Given the description of an element on the screen output the (x, y) to click on. 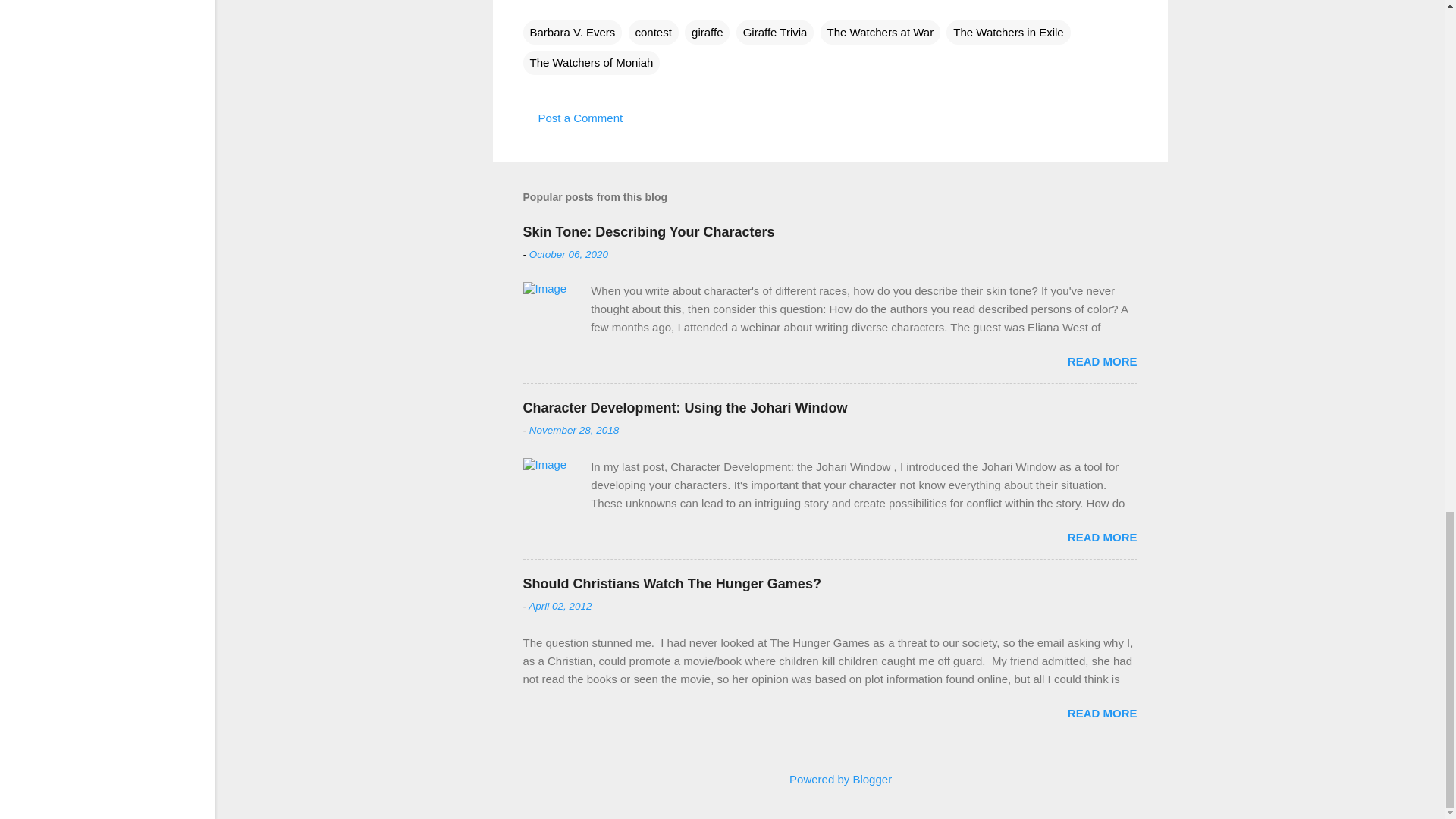
April 02, 2012 (559, 605)
READ MORE (1102, 536)
contest (653, 32)
permanent link (568, 254)
Email Post (531, 3)
Should Christians Watch The Hunger Games? (671, 583)
Character Development: Using the Johari Window (684, 407)
Skin Tone: Describing Your Characters (648, 231)
Barbara V. Evers (572, 32)
November 28, 2018 (574, 430)
